Given the description of an element on the screen output the (x, y) to click on. 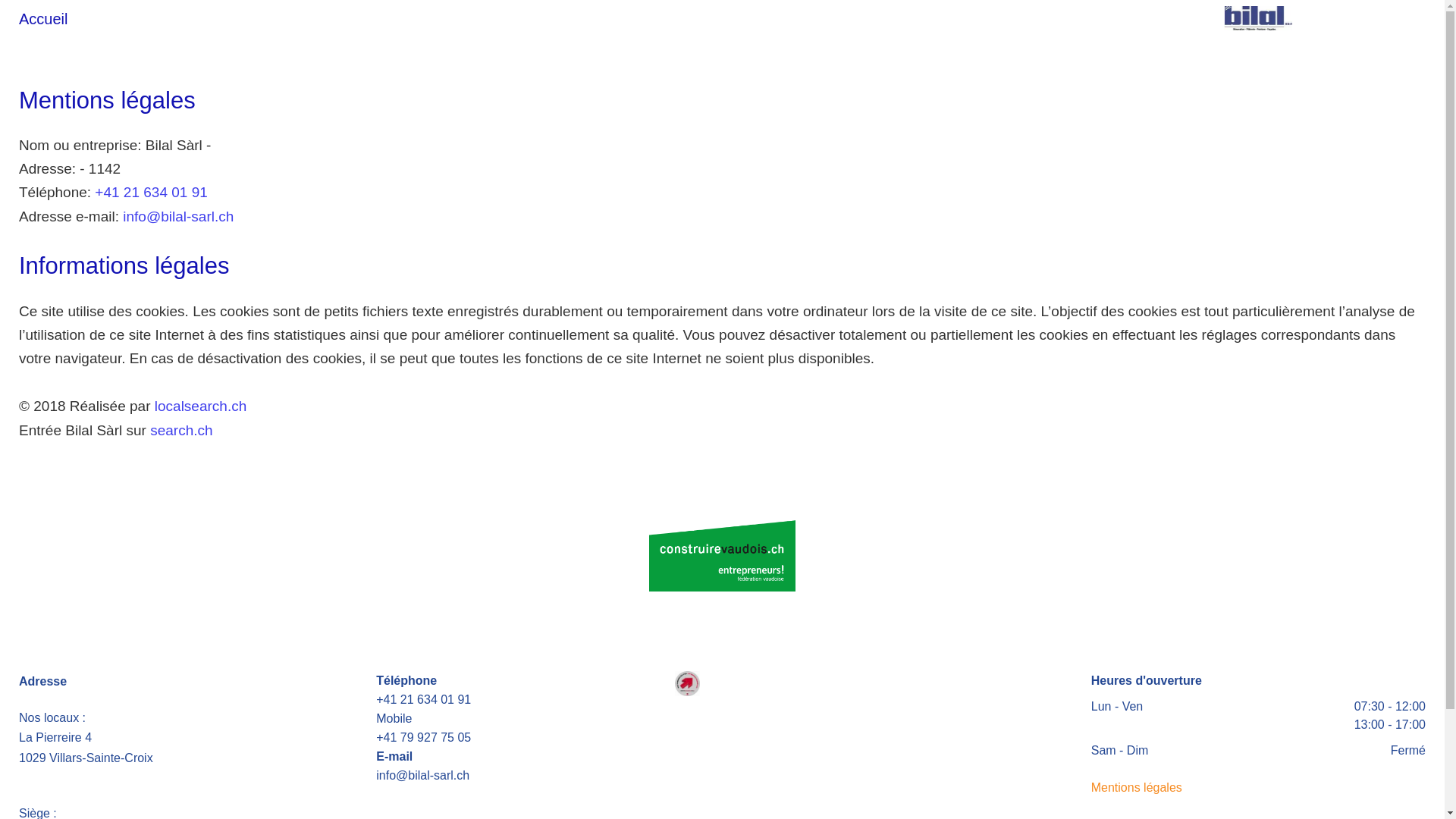
info@bilal-sarl.ch Element type: text (177, 216)
localsearch.ch Element type: text (200, 406)
Accueil Element type: text (42, 18)
+41 21 634 01 91 Element type: text (150, 192)
search.ch Element type: text (181, 430)
